Given the description of an element on the screen output the (x, y) to click on. 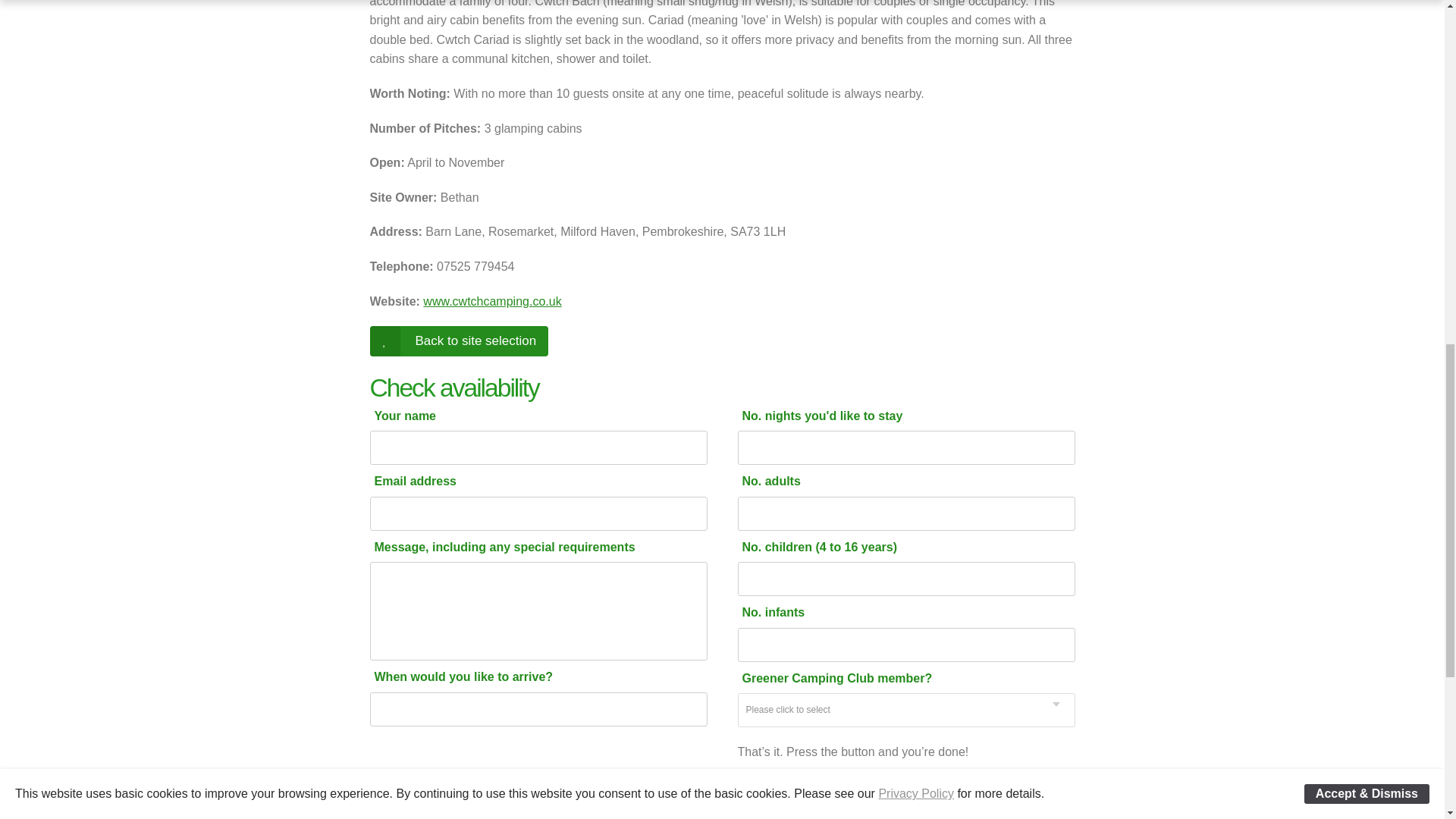
Greener Camping Club member? (895, 678)
No. nights you'd like to stay (895, 415)
When would you like to arrive? (528, 676)
Email address (528, 480)
Your name (528, 415)
Go Back (458, 340)
Send Availability Request (845, 785)
www.cwtchcamping.co.uk (491, 300)
No. adults (895, 480)
Back to site selection (458, 340)
Message, including any special requirements (528, 547)
No. infants (895, 612)
